Given the description of an element on the screen output the (x, y) to click on. 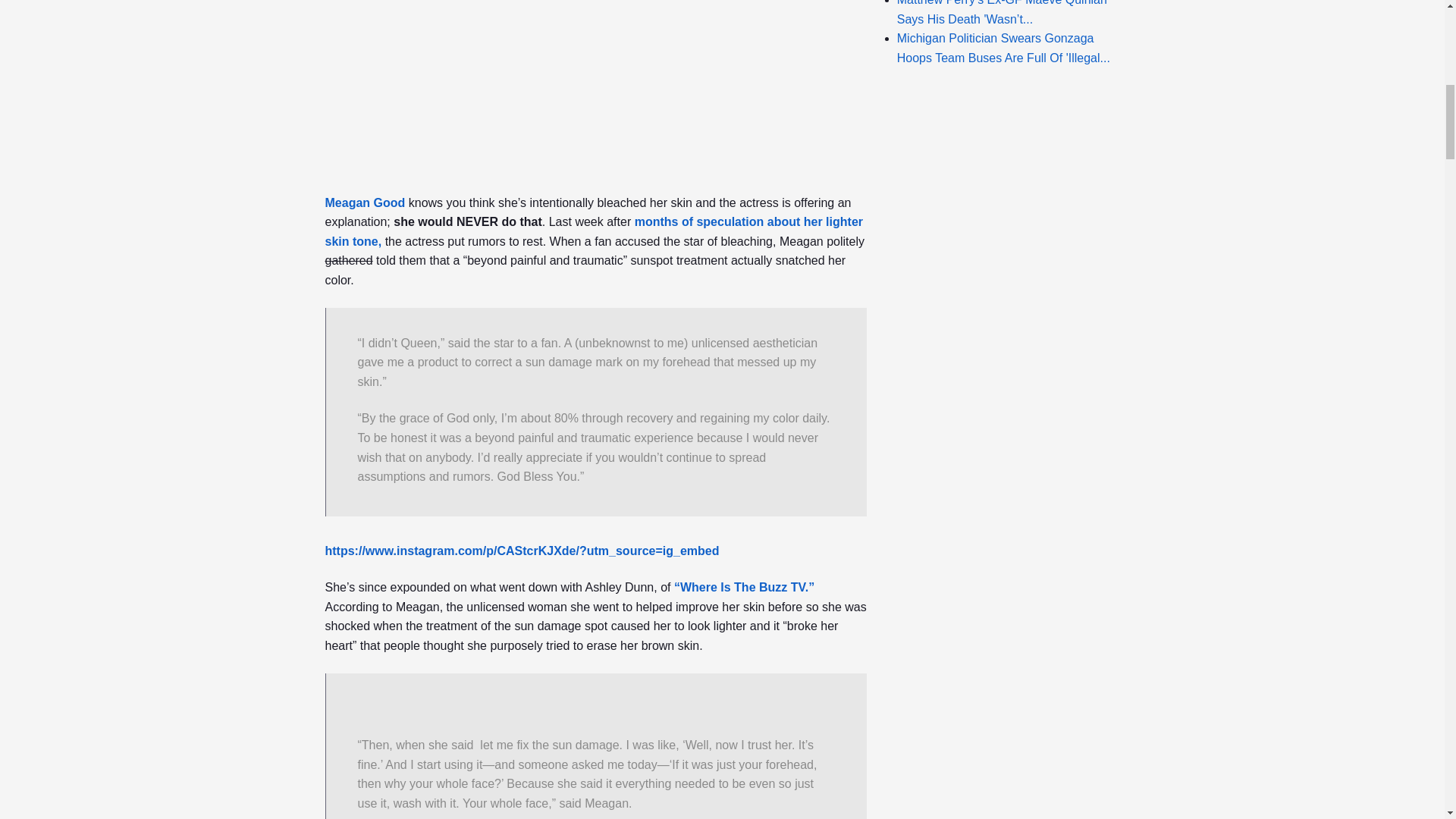
months of speculation about her lighter skin tone, (593, 231)
Meagan Good (364, 202)
